Given the description of an element on the screen output the (x, y) to click on. 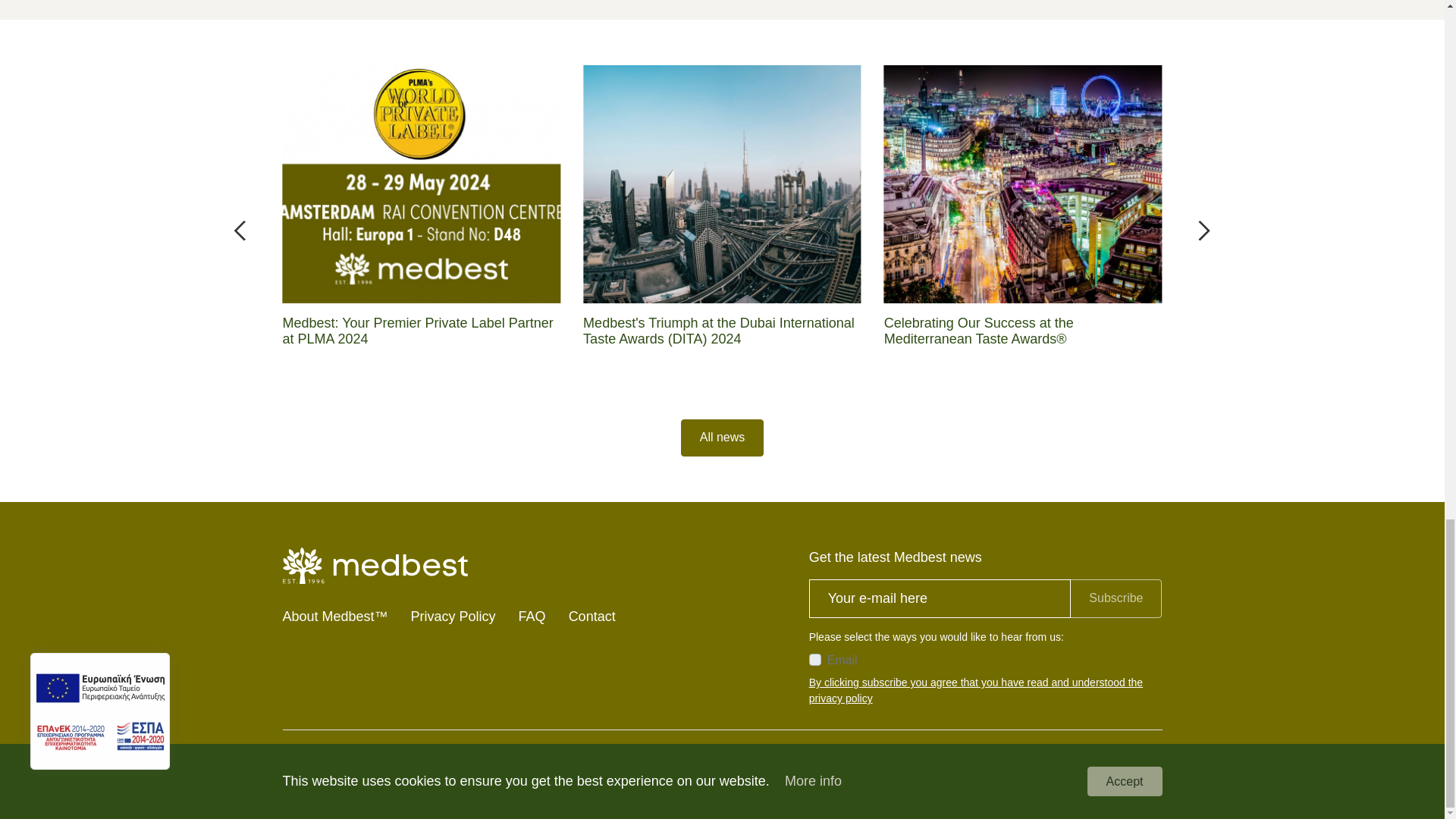
Contact (592, 616)
Medbest: Your Premier Private Label Partner at PLMA 2024 (421, 206)
Privacy Policy (453, 616)
All news (722, 437)
Instagram icon (1154, 763)
homepage (374, 563)
Instagram icon (1154, 762)
Subscribe (1115, 598)
Subscribe (1115, 598)
Facebook icon (1116, 763)
Facebook icon (1116, 762)
FAQ (532, 616)
